Given the description of an element on the screen output the (x, y) to click on. 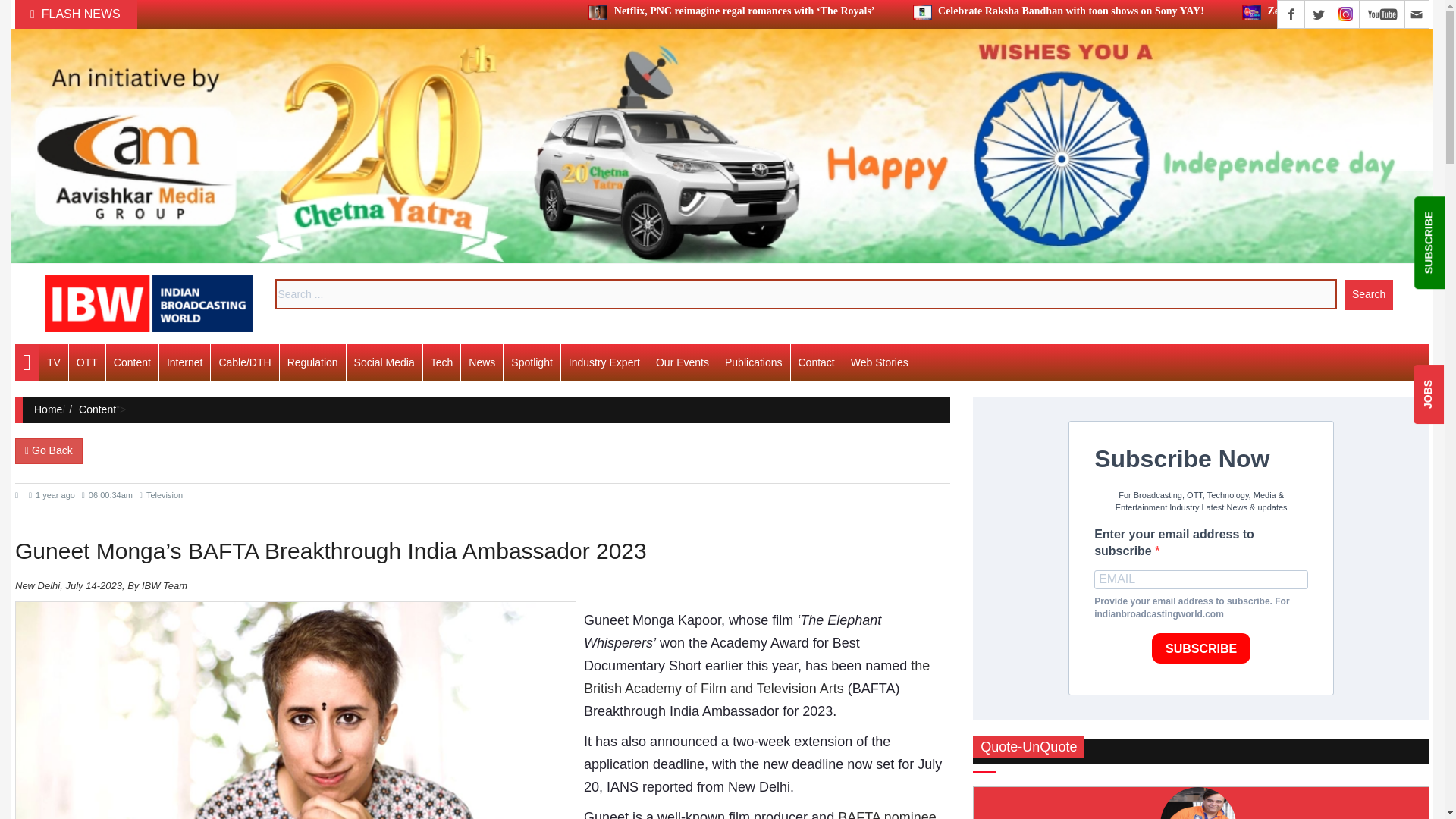
Celebrate Raksha Bandhan with toon shows on Sony YAY! (1058, 10)
Search (1368, 294)
Search (1368, 294)
OTT (86, 361)
Content (131, 361)
Search (1368, 294)
Internet (183, 361)
